Given the description of an element on the screen output the (x, y) to click on. 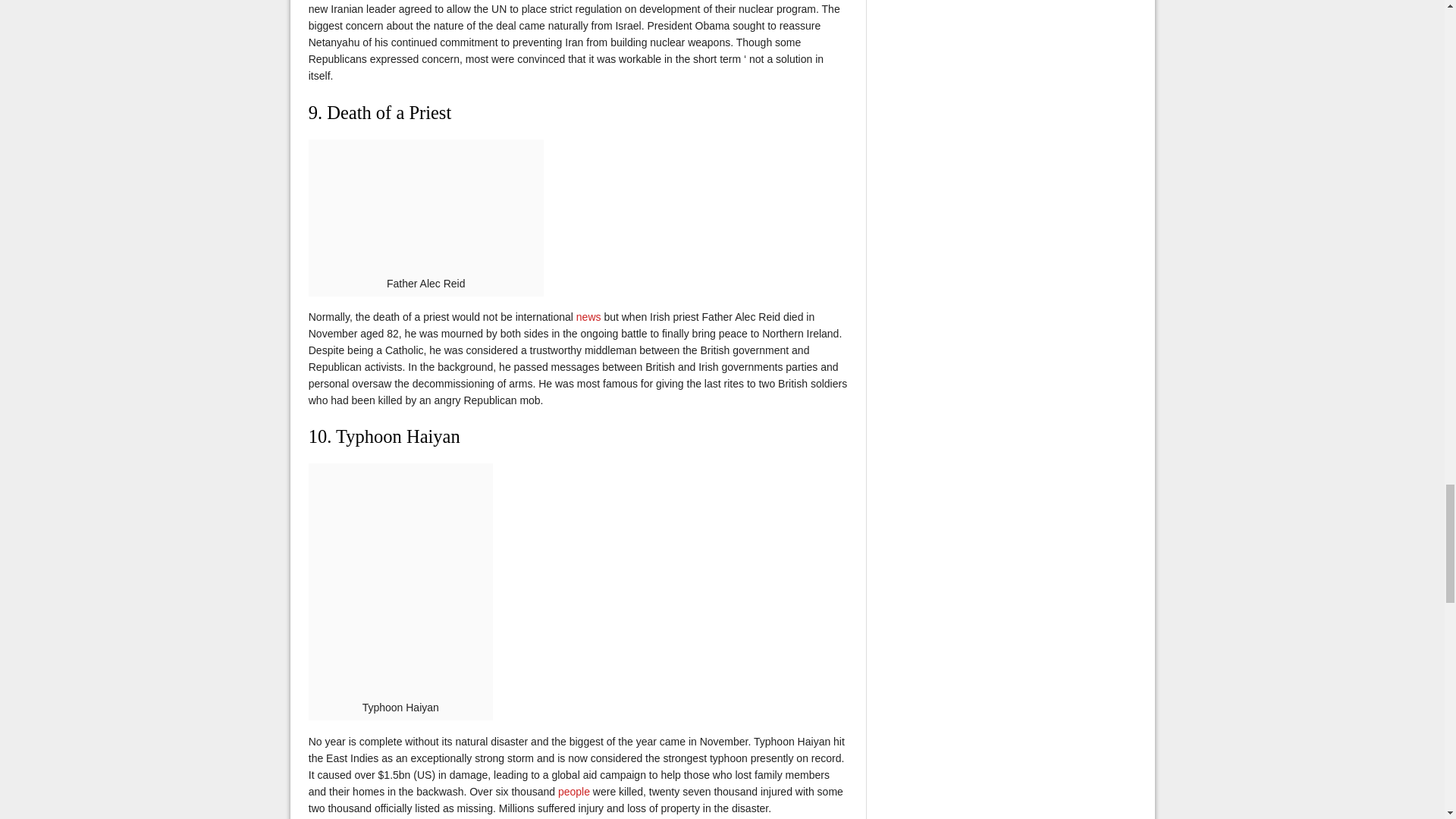
news (588, 316)
FAMOUS IMPORTANT WORLD NEWS STORIES OF AUGUST 2013 (588, 316)
FAMOUS PEOPLE WITH ONLY ONE KNOWN PHOTOGRAPH (573, 791)
people (573, 791)
